Given the description of an element on the screen output the (x, y) to click on. 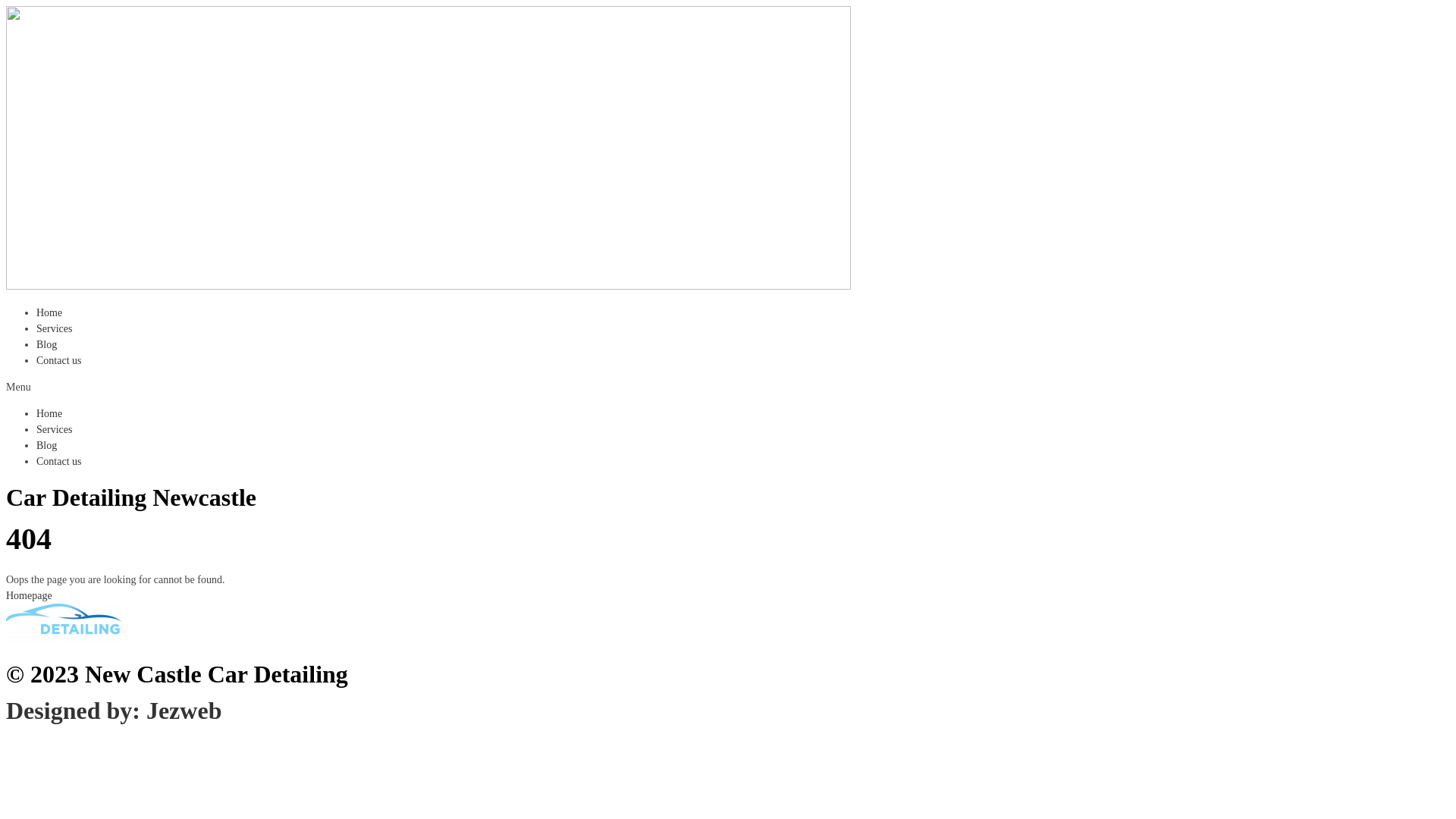
Blog Element type: text (46, 344)
logo Element type: hover (64, 622)
Designed by: Jezweb Element type: text (113, 710)
Home Element type: text (49, 312)
Services Element type: text (54, 429)
Blog Element type: text (46, 445)
Home Element type: text (49, 413)
Homepage Element type: text (29, 595)
Services Element type: text (54, 328)
Contact us Element type: text (58, 360)
Contact us Element type: text (58, 461)
